Given the description of an element on the screen output the (x, y) to click on. 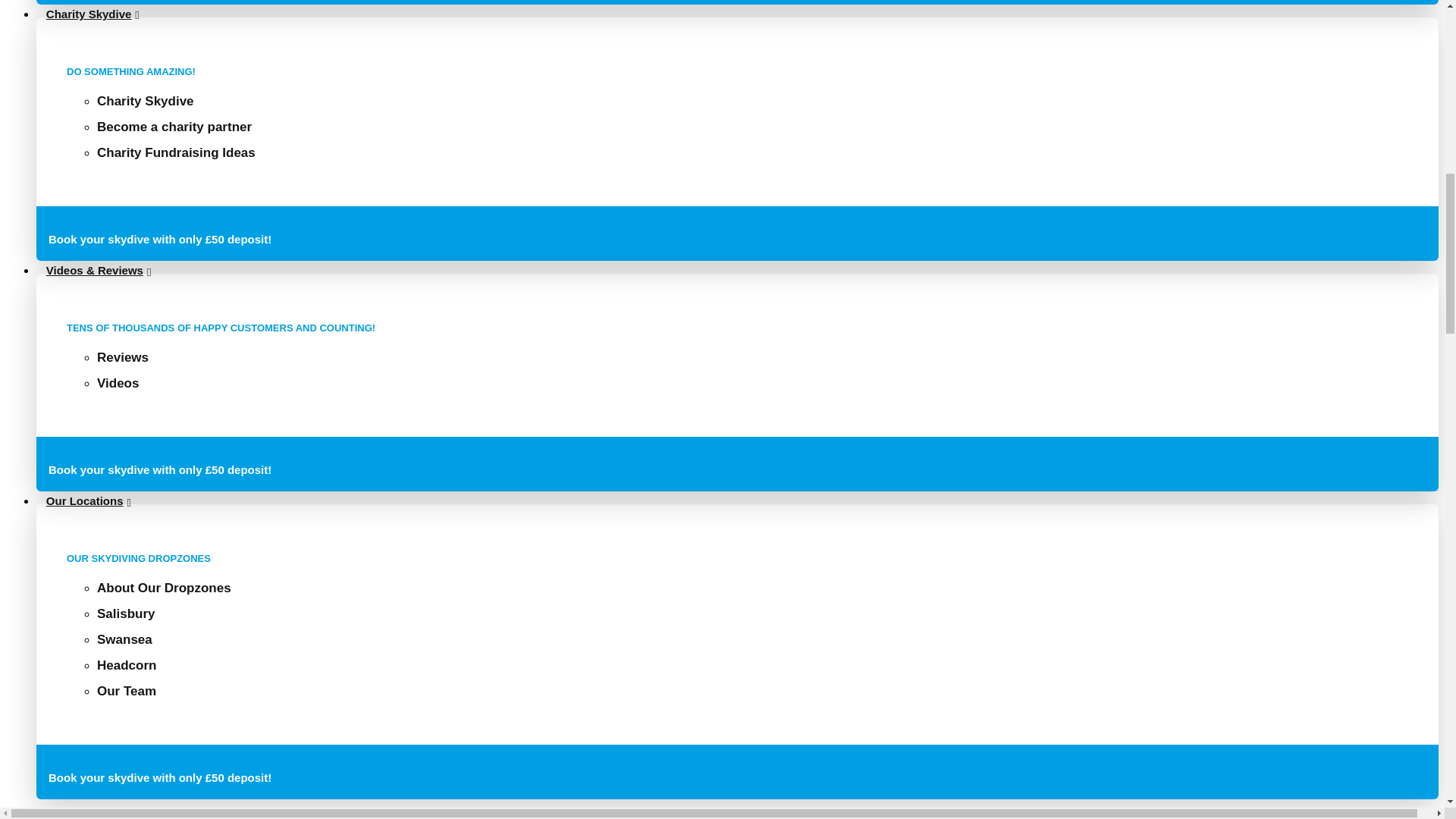
Swansea (124, 639)
Our Team (126, 690)
Salisbury (126, 613)
Videos (117, 382)
Our Locations (88, 500)
Charity Fundraising Ideas (176, 152)
Headcorn (126, 665)
Become a charity partner (174, 126)
Charity Skydive (145, 101)
Charity Skydive (92, 13)
About Our Dropzones (164, 587)
Reviews (122, 357)
